Given the description of an element on the screen output the (x, y) to click on. 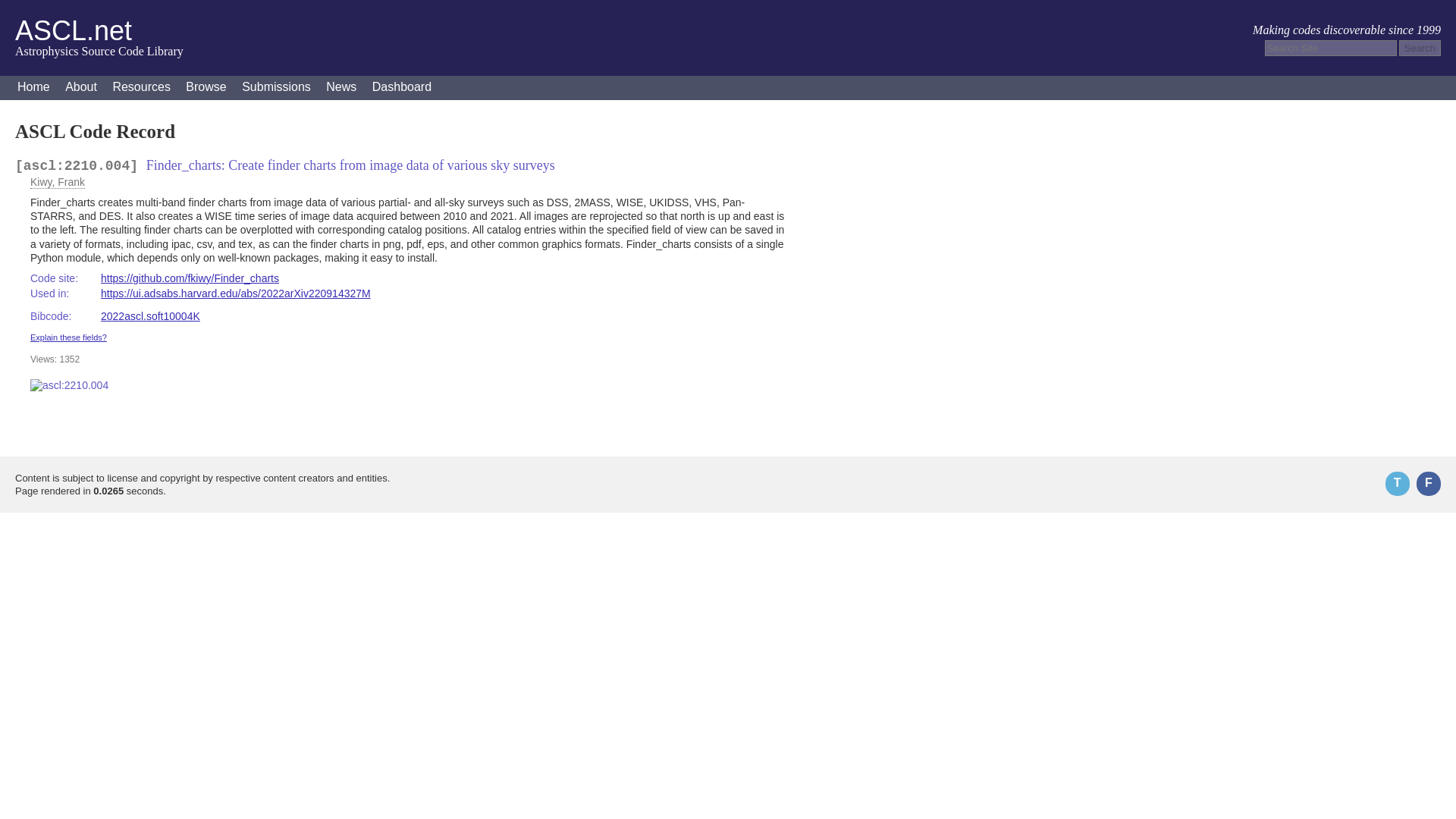
Home (33, 87)
Follow ASCL on Twitter (1397, 483)
Resources (141, 87)
Submissions (276, 87)
Like ASCL on Facebook (1428, 483)
Explain these fields? (68, 337)
Dashboard (402, 87)
F (1428, 483)
Search (1420, 48)
T (1397, 483)
About (81, 87)
2022ascl.soft10004K (150, 316)
Kiwy, Frank (57, 182)
News (341, 87)
Browse (205, 87)
